Given the description of an element on the screen output the (x, y) to click on. 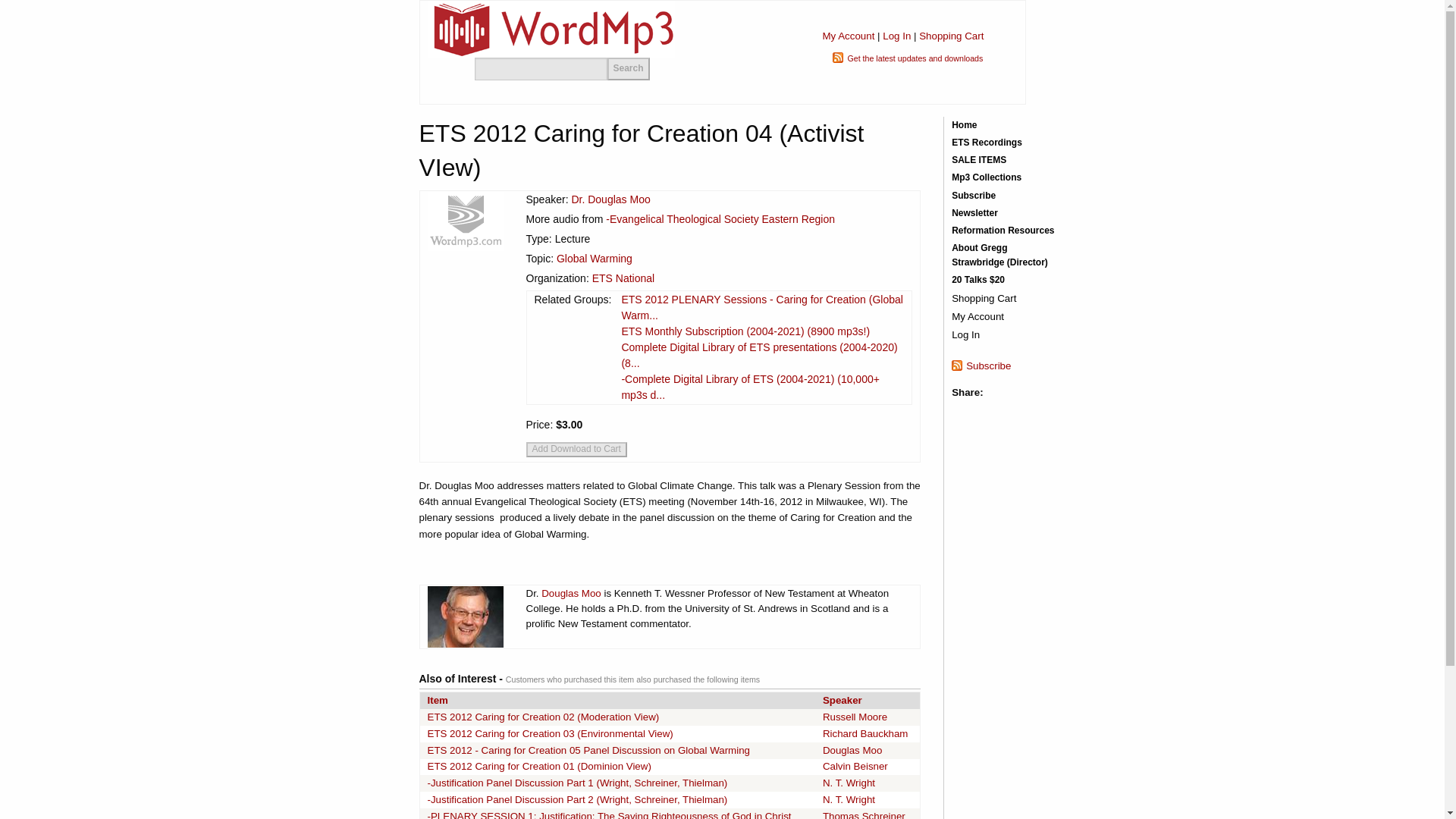
Add Download to Cart (576, 449)
Search (628, 68)
-Evangelical Theological Society Eastern Region (719, 218)
Global Warming (593, 258)
Speaker (841, 699)
Russell Moore (854, 716)
Log In (896, 35)
ETS National (622, 277)
Douglas Moo (571, 593)
Dr. Douglas Moo (609, 199)
Shopping Cart (951, 35)
Add Download to Cart (576, 449)
Item (438, 699)
Richard Bauckham (865, 733)
Get the latest updates and downloads (914, 58)
